Given the description of an element on the screen output the (x, y) to click on. 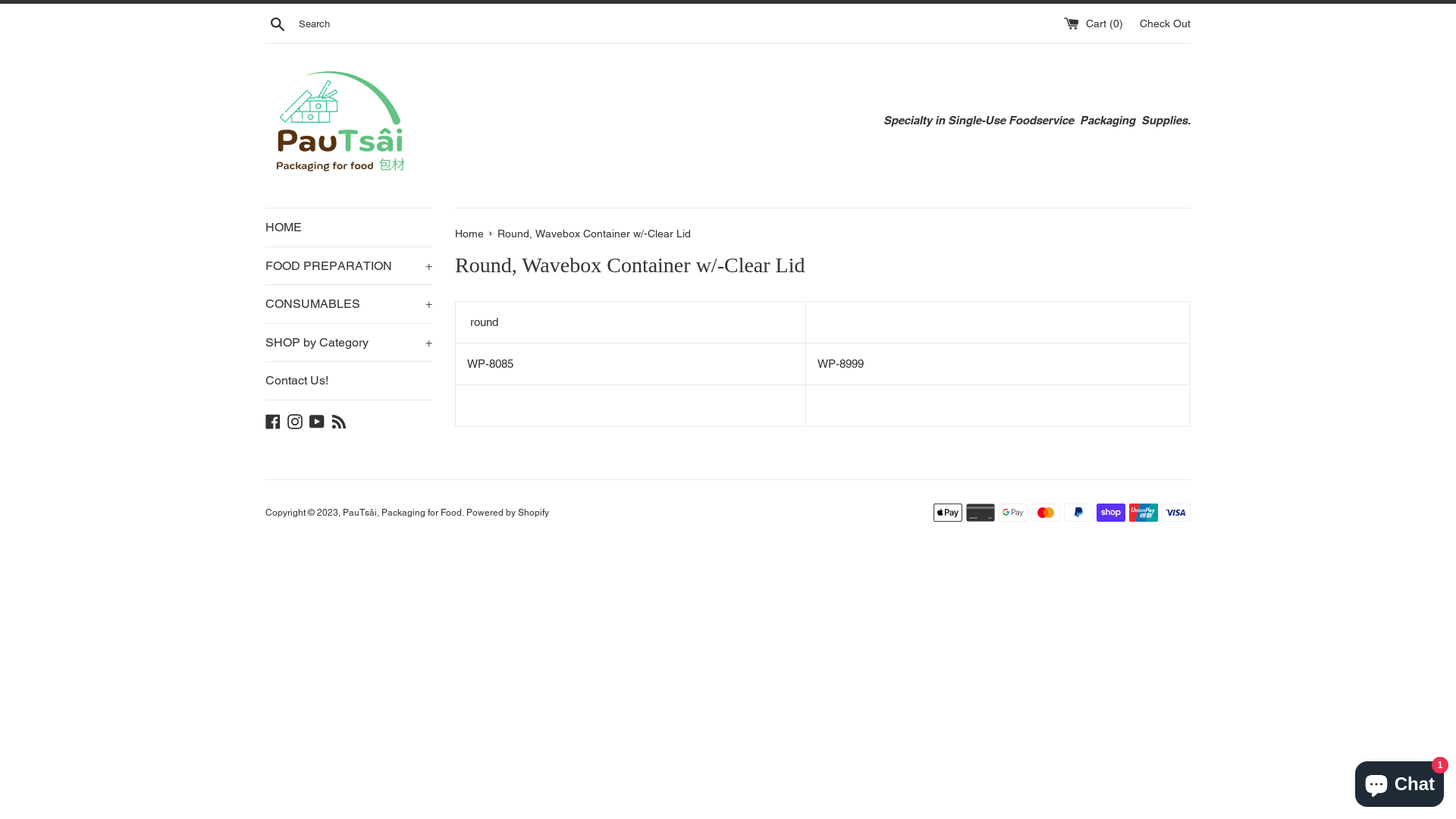
YouTube Element type: text (316, 420)
Instagram Element type: text (294, 420)
FOOD PREPARATION
+ Element type: text (348, 266)
Contact Us! Element type: text (348, 380)
SHOP by Category
+ Element type: text (348, 342)
HOME Element type: text (348, 227)
Shopify online store chat Element type: hover (1399, 780)
Check Out Element type: text (1164, 22)
Home Element type: text (470, 233)
Blog Element type: text (338, 420)
Search Element type: text (277, 23)
Facebook Element type: text (272, 420)
CONSUMABLES
+ Element type: text (348, 304)
Cart (0) Element type: text (1094, 22)
Powered by Shopify Element type: text (507, 512)
